Given the description of an element on the screen output the (x, y) to click on. 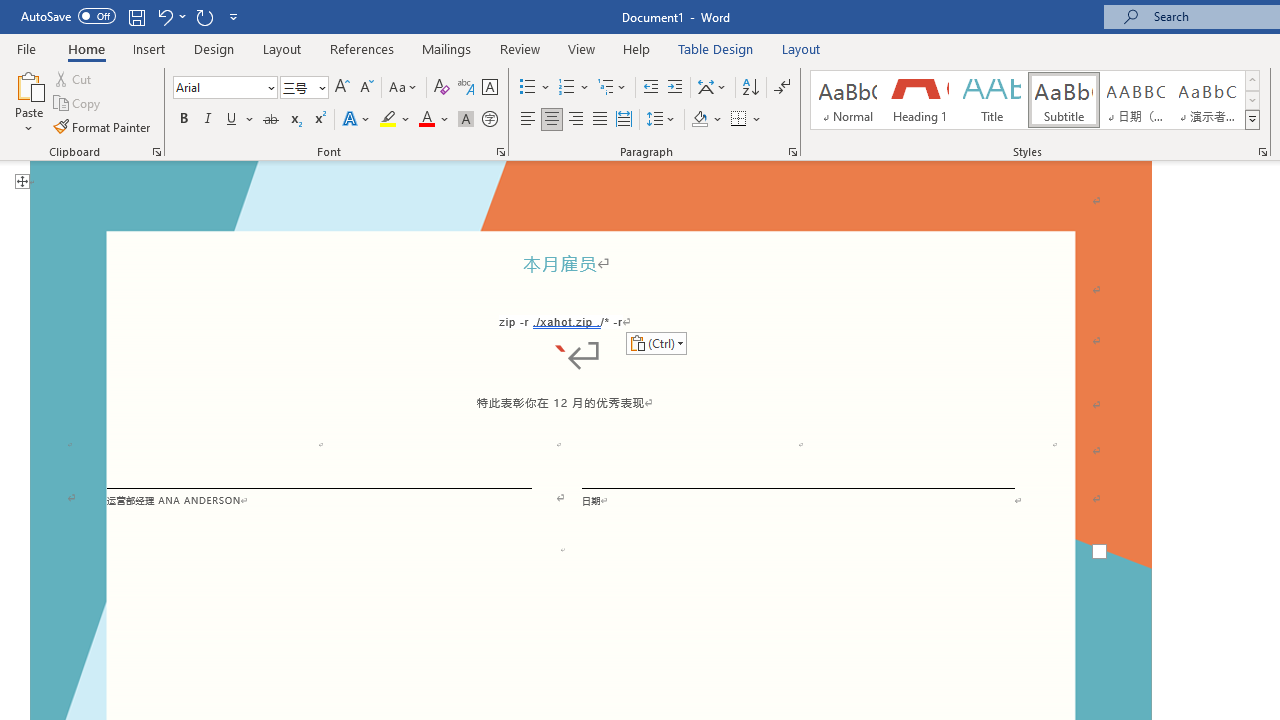
Font Color Red (426, 119)
Action: Paste alternatives (656, 342)
